Given the description of an element on the screen output the (x, y) to click on. 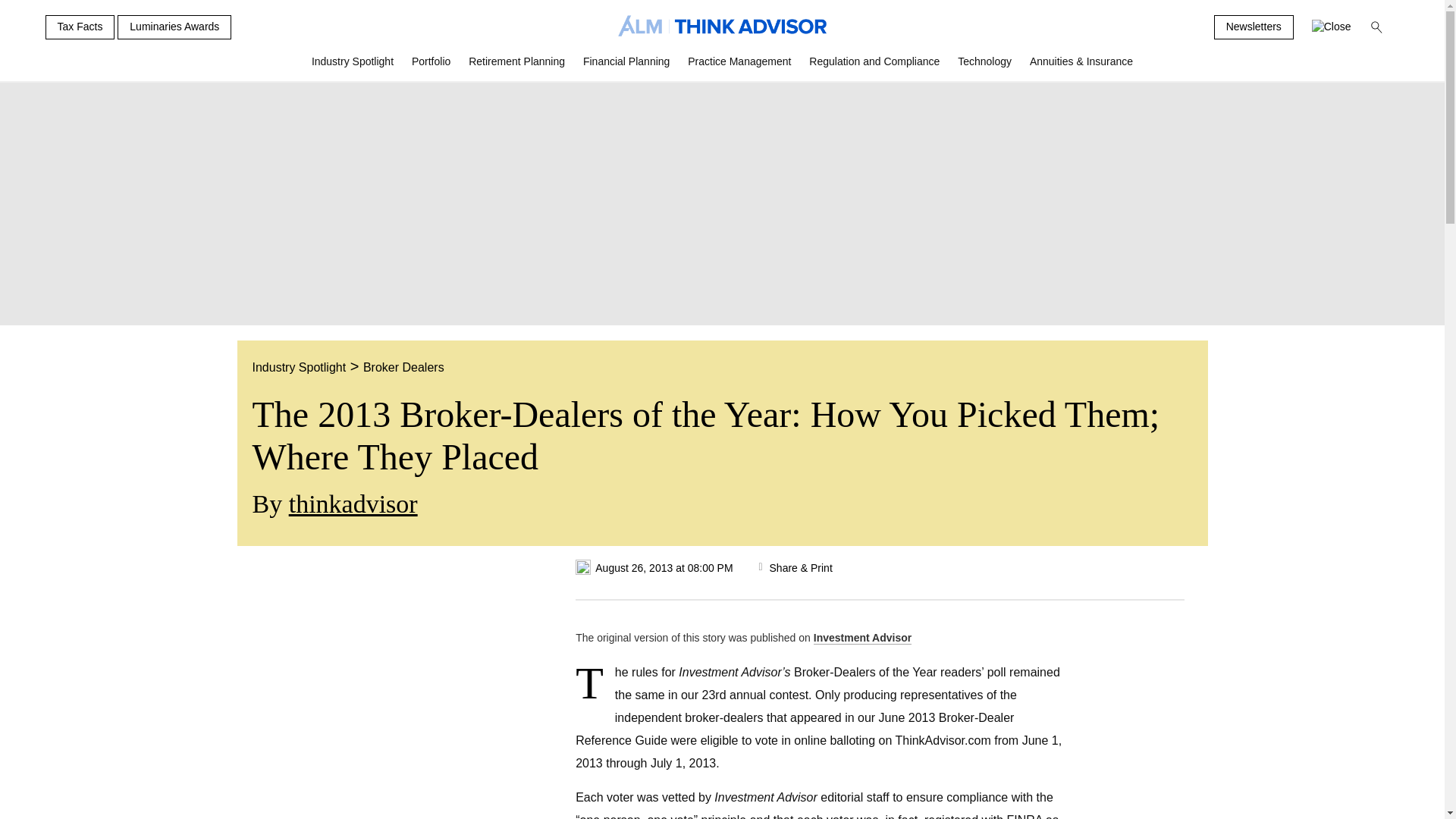
Luminaries Awards (174, 27)
Tax Facts (80, 27)
Industry Spotlight (352, 67)
Newsletters (1254, 27)
